Given the description of an element on the screen output the (x, y) to click on. 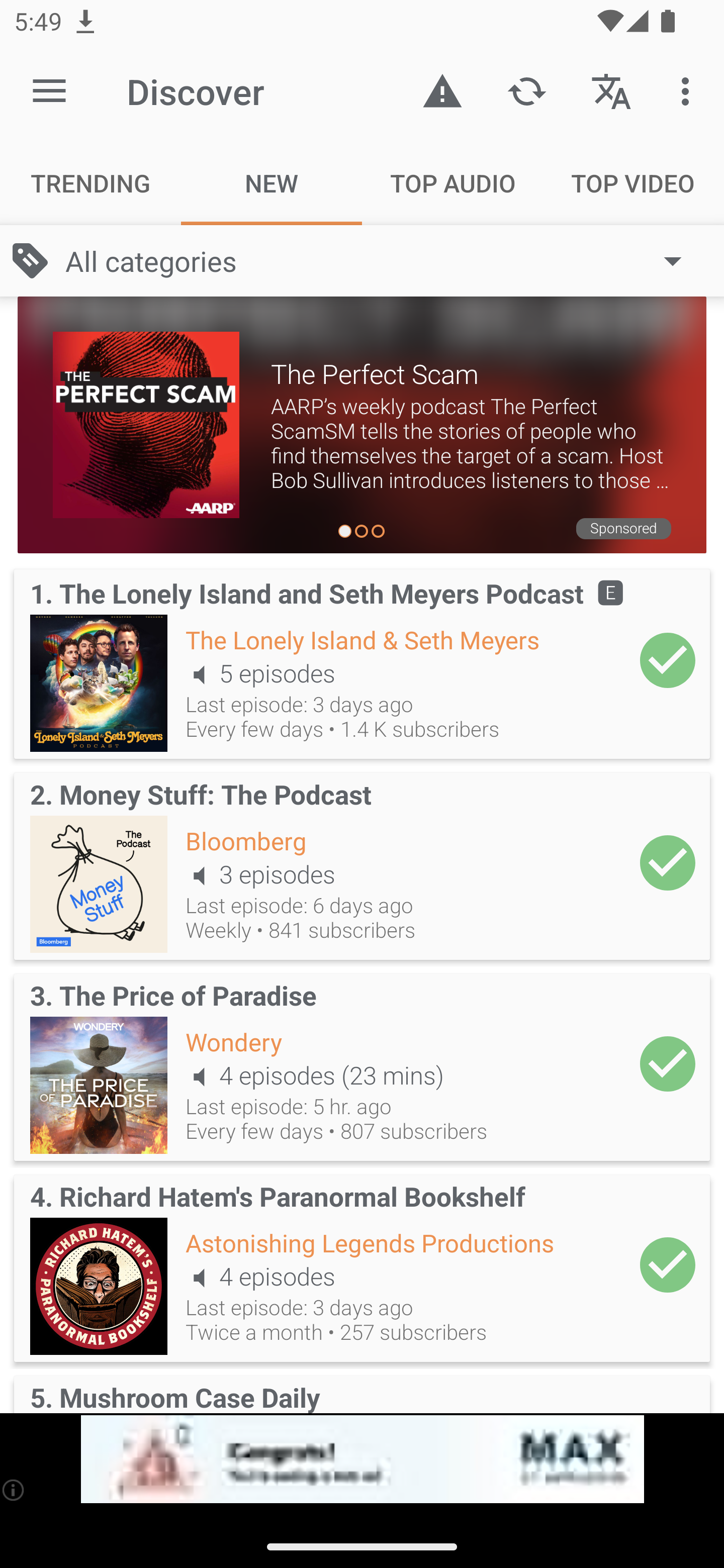
Open navigation sidebar (49, 91)
Report inappropriate content (442, 90)
Update top podcasts list (526, 90)
Podcast languages (611, 90)
More options (688, 90)
Trending TRENDING (90, 183)
Top Audio TOP AUDIO (452, 183)
Top Video TOP VIDEO (633, 183)
All categories (383, 260)
Add (667, 659)
Add (667, 862)
Add (667, 1063)
Add (667, 1265)
5. Mushroom Case Daily (362, 1390)
app-monetization (362, 1459)
(i) (14, 1489)
